Given the description of an element on the screen output the (x, y) to click on. 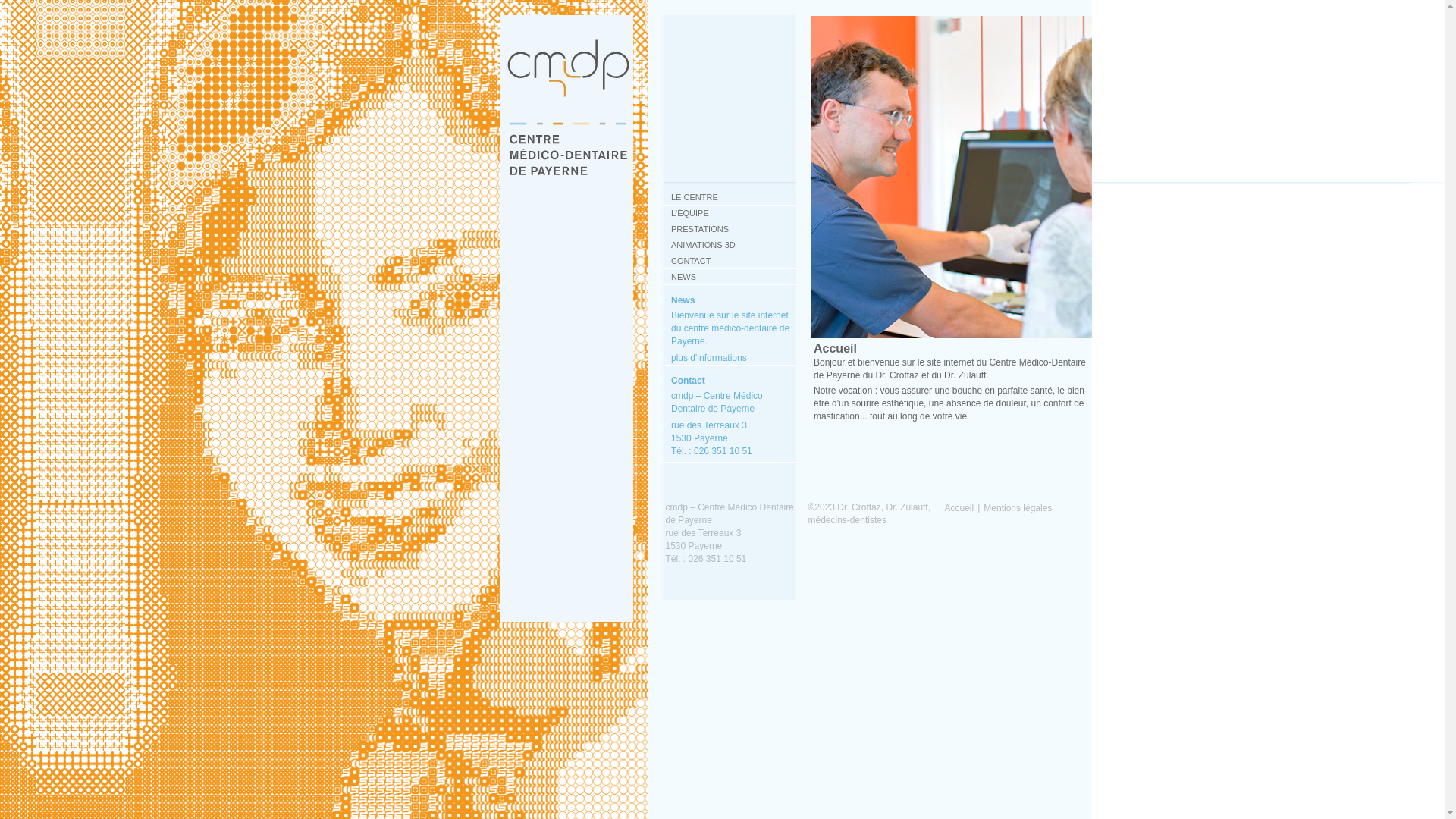
NEWS Element type: text (729, 277)
Accueil Element type: text (959, 507)
LE CENTRE Element type: text (729, 197)
CONTACT Element type: text (729, 261)
ANIMATIONS 3D Element type: text (729, 245)
PRESTATIONS Element type: text (729, 229)
plus d'informations Element type: text (708, 357)
